Given the description of an element on the screen output the (x, y) to click on. 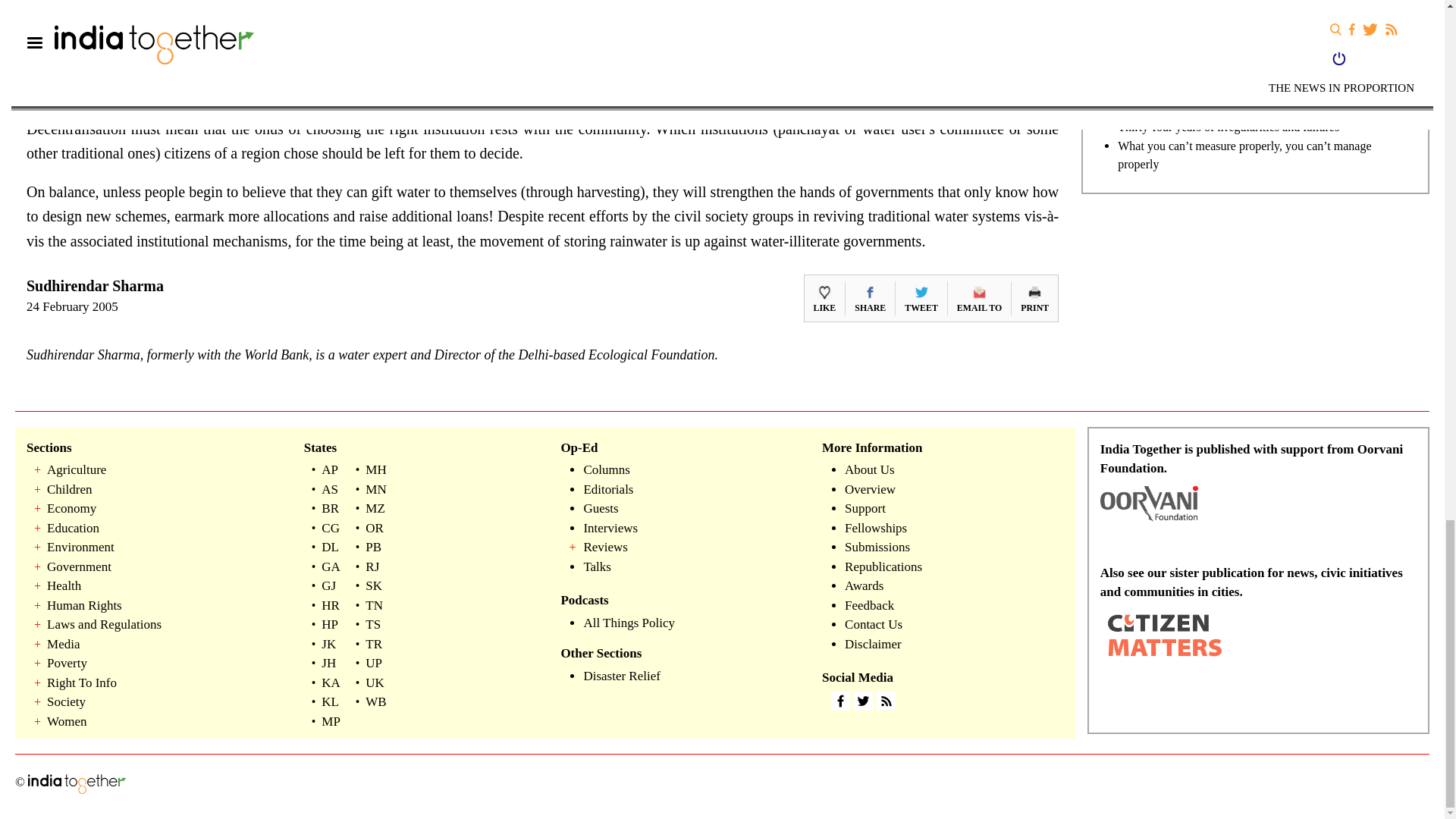
EMAIL TO (978, 297)
SHARE (869, 297)
TWEET (920, 297)
See all (1402, 64)
